Given the description of an element on the screen output the (x, y) to click on. 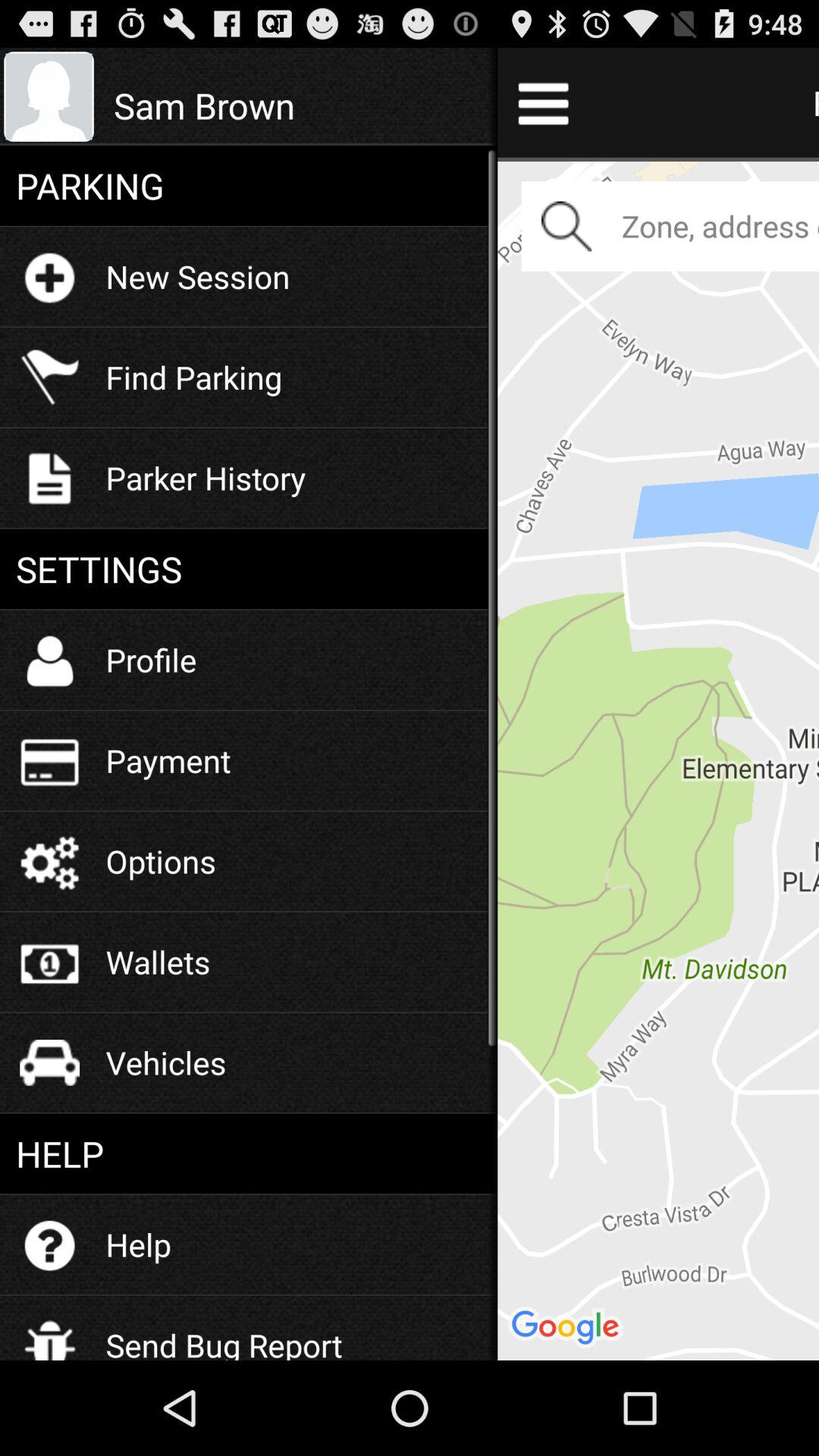
scroll to the options item (160, 860)
